Given the description of an element on the screen output the (x, y) to click on. 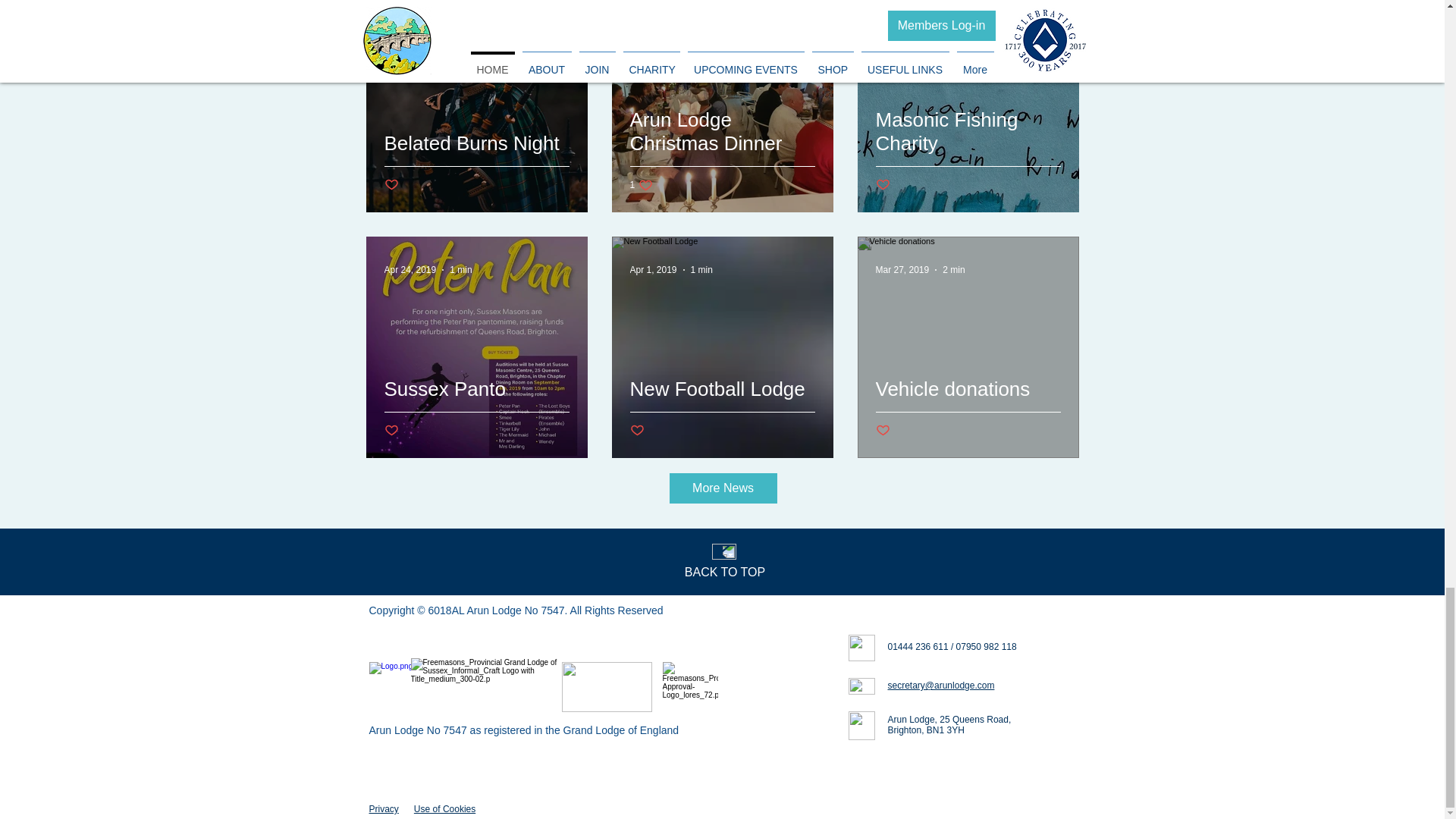
Arun Lodge Christmas Dinner (720, 149)
1 min (701, 269)
2 min (952, 269)
Sussex Panto (476, 406)
Post not marked as liked (390, 430)
1 min (460, 269)
May 15, 2019 (902, 23)
Dec 23, 2019 (655, 23)
Masonic Fishing Charity (967, 149)
Mar 27, 2019 (901, 269)
New Football Lodge (720, 406)
Post not marked as liked (635, 430)
1 min (708, 23)
More News (722, 488)
Belated Burns Night (476, 161)
